Given the description of an element on the screen output the (x, y) to click on. 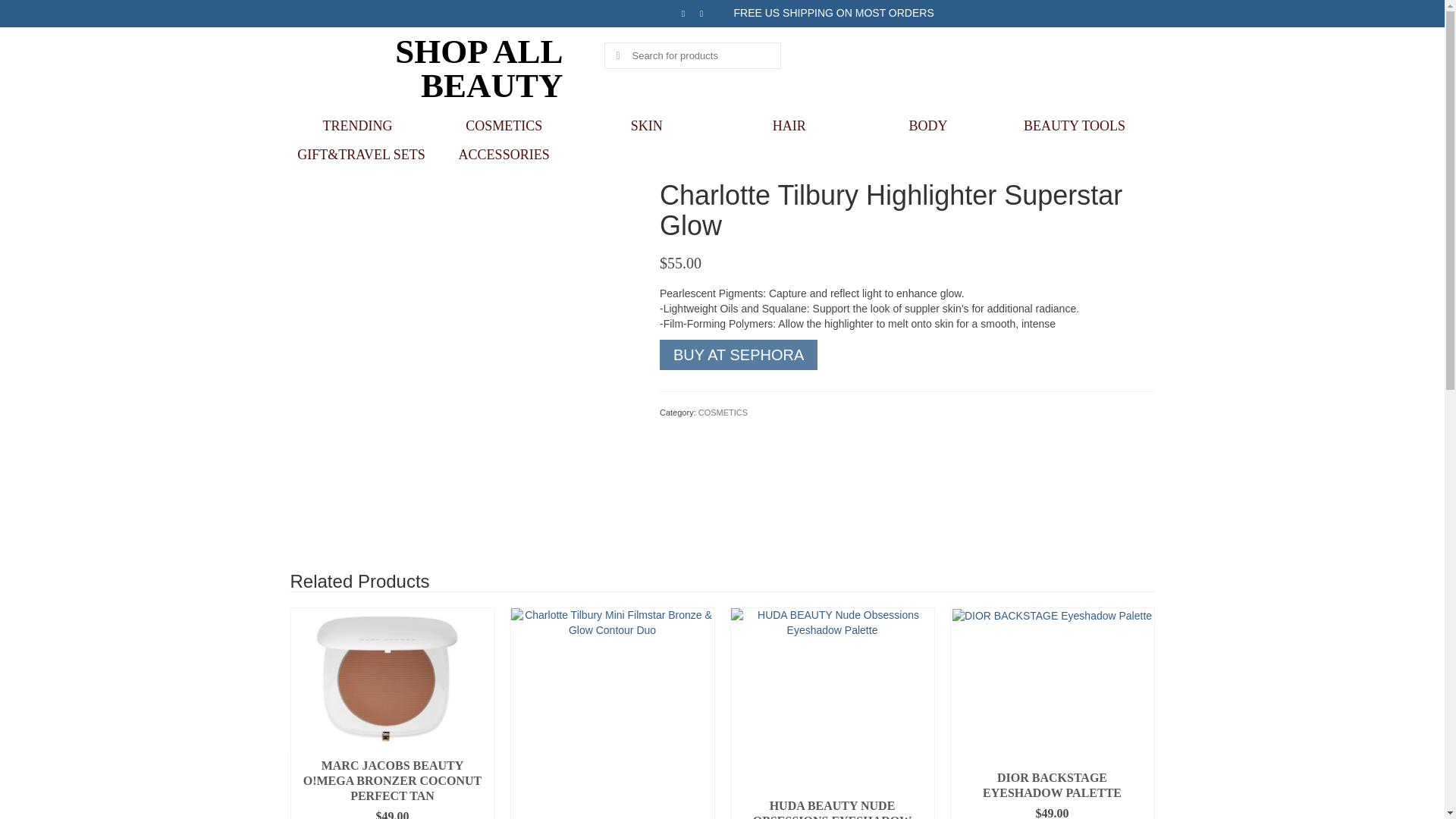
HAIR (788, 125)
TRENDING (360, 125)
ACCESSORIES (503, 154)
COSMETICS (503, 125)
BEAUTY TOOLS (1074, 125)
BODY (931, 125)
COSMETICS (723, 411)
BUY AT SEPHORA (737, 354)
SHOP ALL BEAUTY (478, 68)
MARC JACOBS BEAUTY O!MEGA BRONZER COCONUT PERFECT TAN (393, 777)
